Given the description of an element on the screen output the (x, y) to click on. 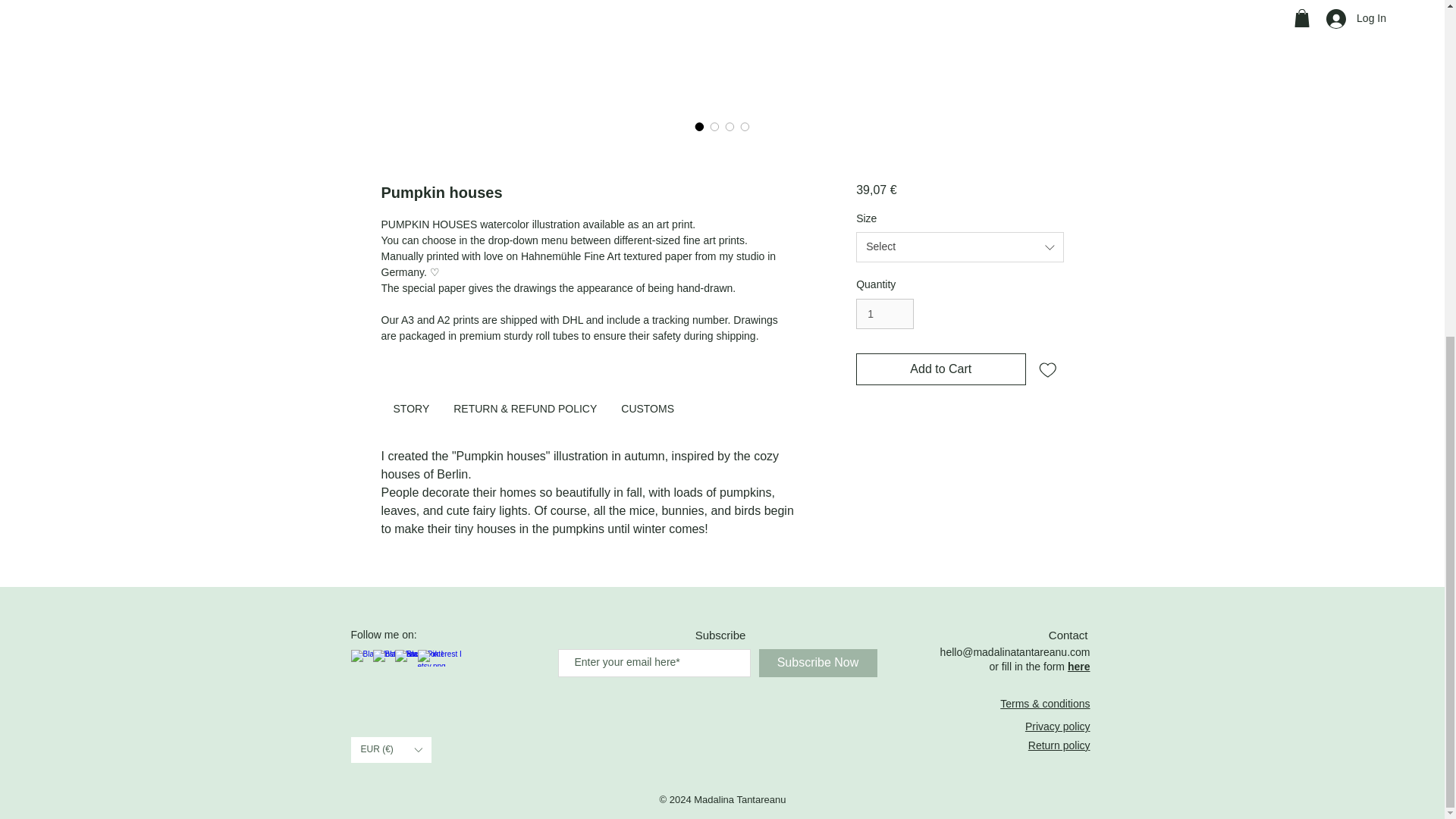
Add to Cart (940, 368)
Return policy (1058, 745)
Use right and left arrows to navigate between tabs (410, 409)
Subscribe Now (817, 663)
Privacy policy (1057, 726)
Use right and left arrows to navigate between tabs (647, 409)
Use right and left arrows to navigate between tabs (524, 409)
1 (885, 314)
Select (959, 246)
here (1078, 666)
